Given the description of an element on the screen output the (x, y) to click on. 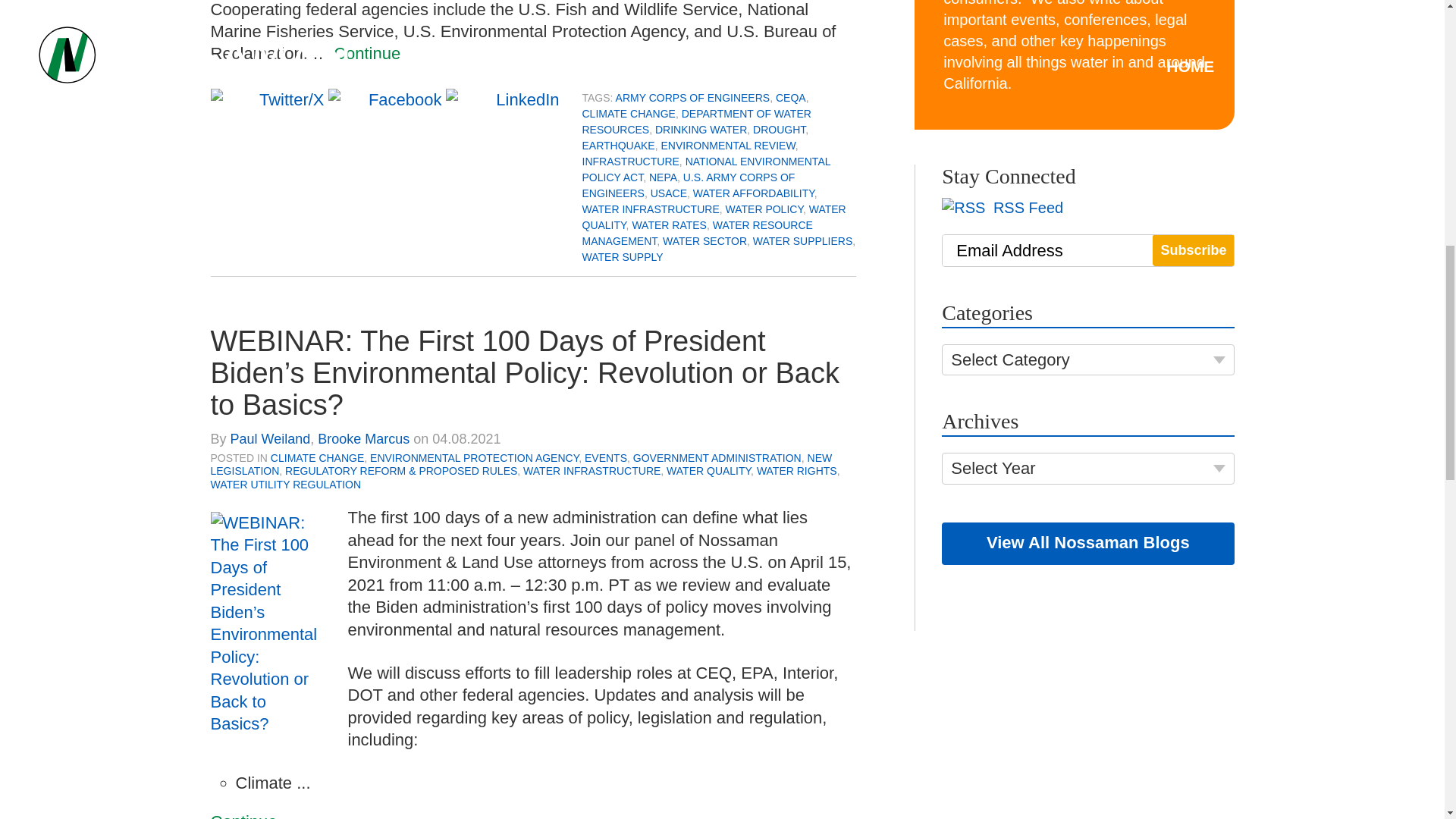
DROUGHT (778, 129)
NEPA (663, 177)
NATIONAL ENVIRONMENTAL POLICY ACT (705, 169)
WATER SECTOR (704, 241)
CEQA (791, 97)
Subscribe (1193, 250)
WATER SUPPLY (622, 256)
CLIMATE CHANGE (628, 113)
WATER AFFORDABILITY (753, 193)
Continue (366, 53)
